Given the description of an element on the screen output the (x, y) to click on. 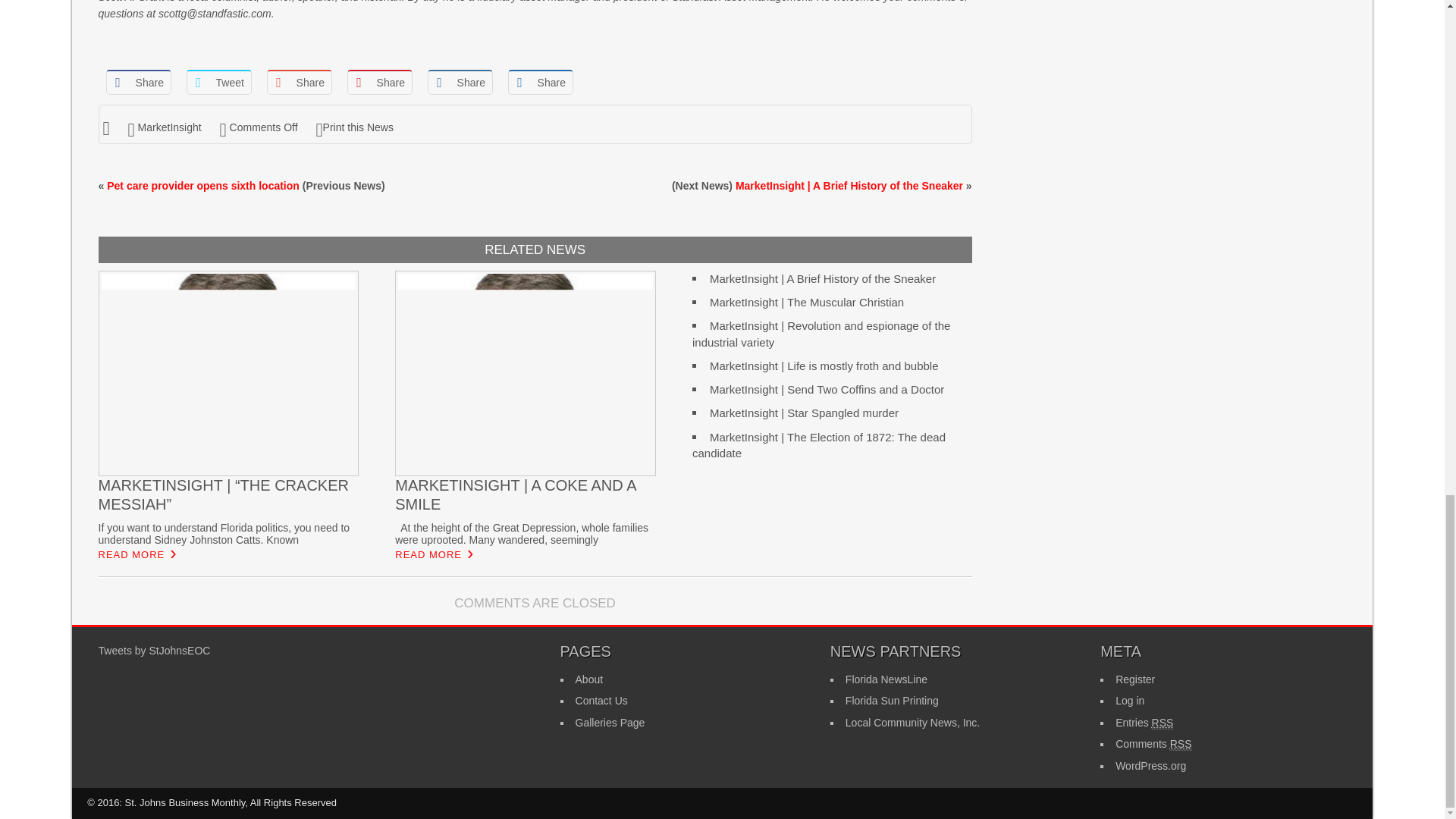
Share on Twitter (218, 82)
Print this News (354, 127)
Share (460, 82)
Share (298, 82)
MarketInsight (170, 127)
Tweet (218, 82)
Share on Digg (540, 82)
Share (540, 82)
Share on Facebook (138, 82)
Share on Pinterest (379, 82)
Share (138, 82)
Share (379, 82)
Share on Google Plus (298, 82)
Share on LinkedIn (460, 82)
